Given the description of an element on the screen output the (x, y) to click on. 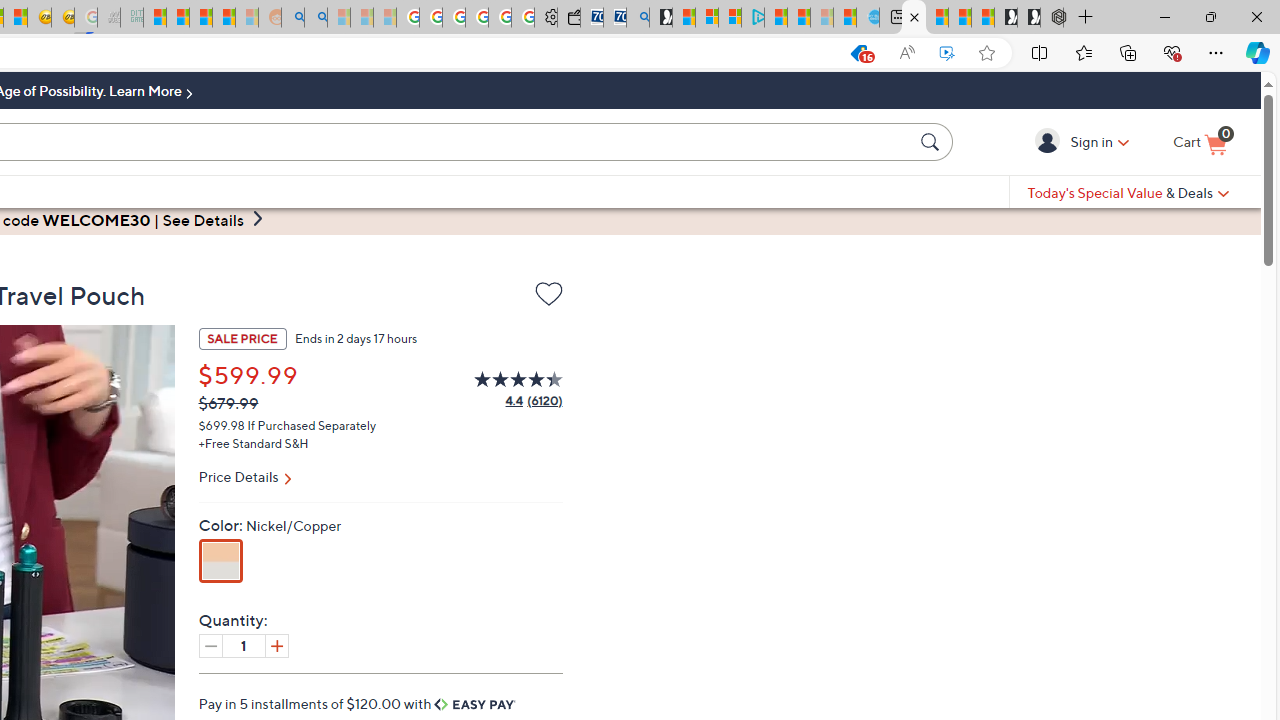
Add to Wish List (548, 294)
Student Loan Update: Forgiveness Program Ends This Month (223, 17)
Decrease quantity by 1 (210, 645)
Home | Sky Blue Bikes - Sky Blue Bikes (867, 17)
Search Submit (932, 141)
